Given the description of an element on the screen output the (x, y) to click on. 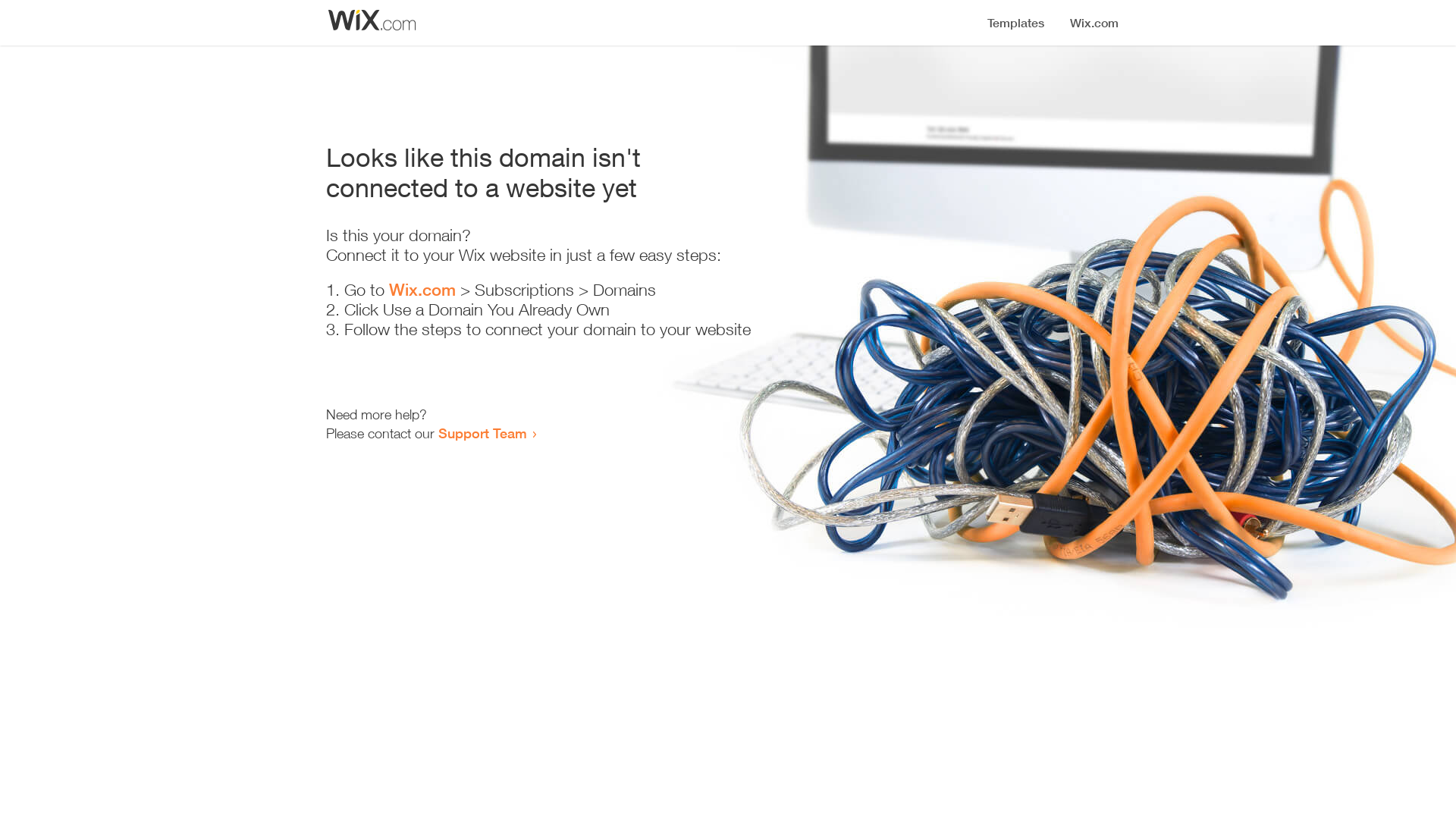
Support Team Element type: text (482, 432)
Wix.com Element type: text (422, 289)
